Given the description of an element on the screen output the (x, y) to click on. 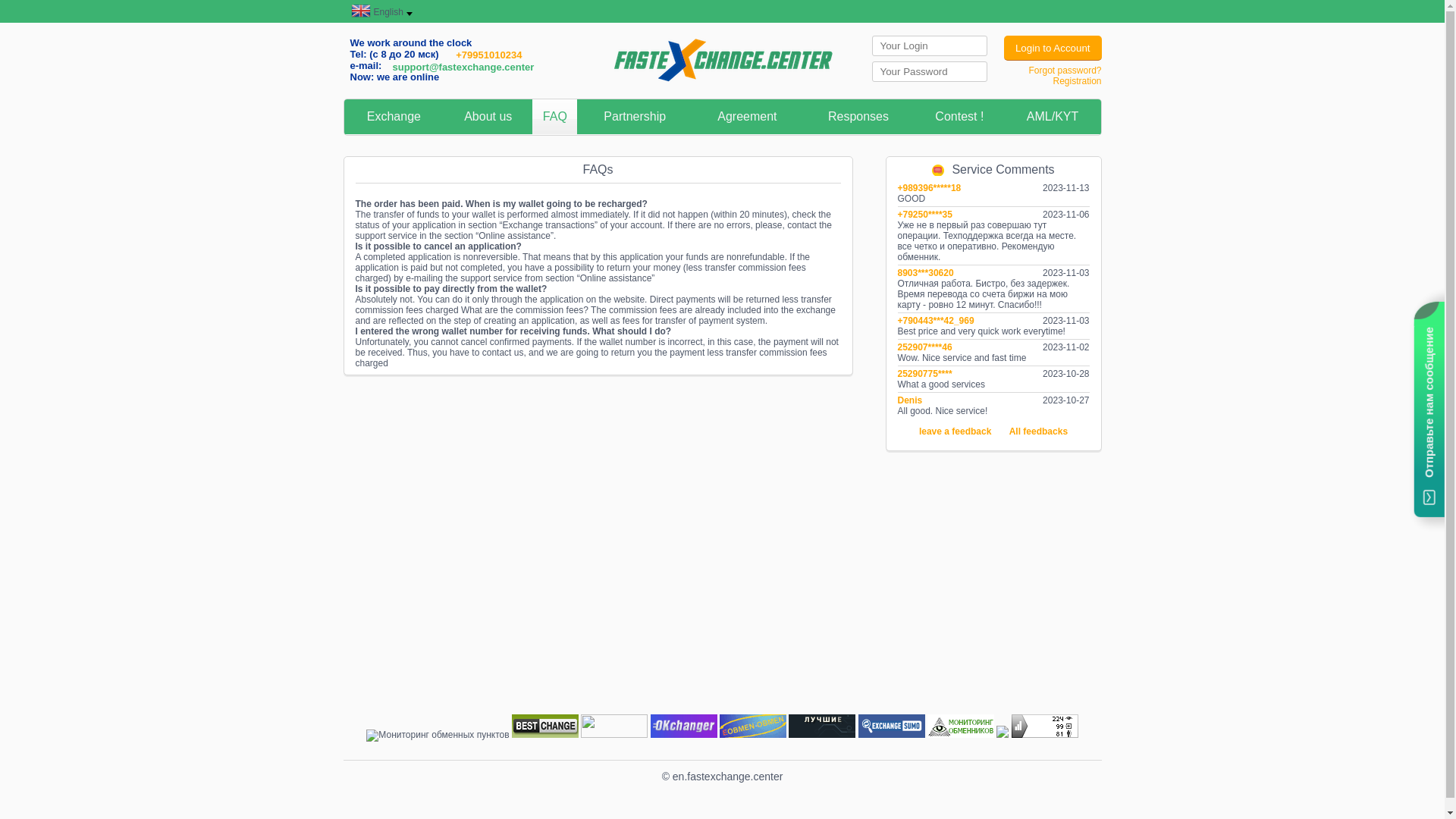
support@fastexchange.center Element type: text (463, 66)
Responses Element type: text (858, 116)
AML/KYT Element type: text (1052, 116)
Login to Account Element type: text (1052, 47)
Forgot password? Element type: text (1064, 70)
Partnership Element type: text (634, 116)
Contest ! Element type: text (959, 116)
All feedbacks Element type: text (1038, 432)
FAQ Element type: text (554, 116)
About us Element type: text (487, 116)
Exchange Element type: text (394, 116)
Registration Element type: text (1076, 80)
Agreement Element type: text (747, 116)
